Given the description of an element on the screen output the (x, y) to click on. 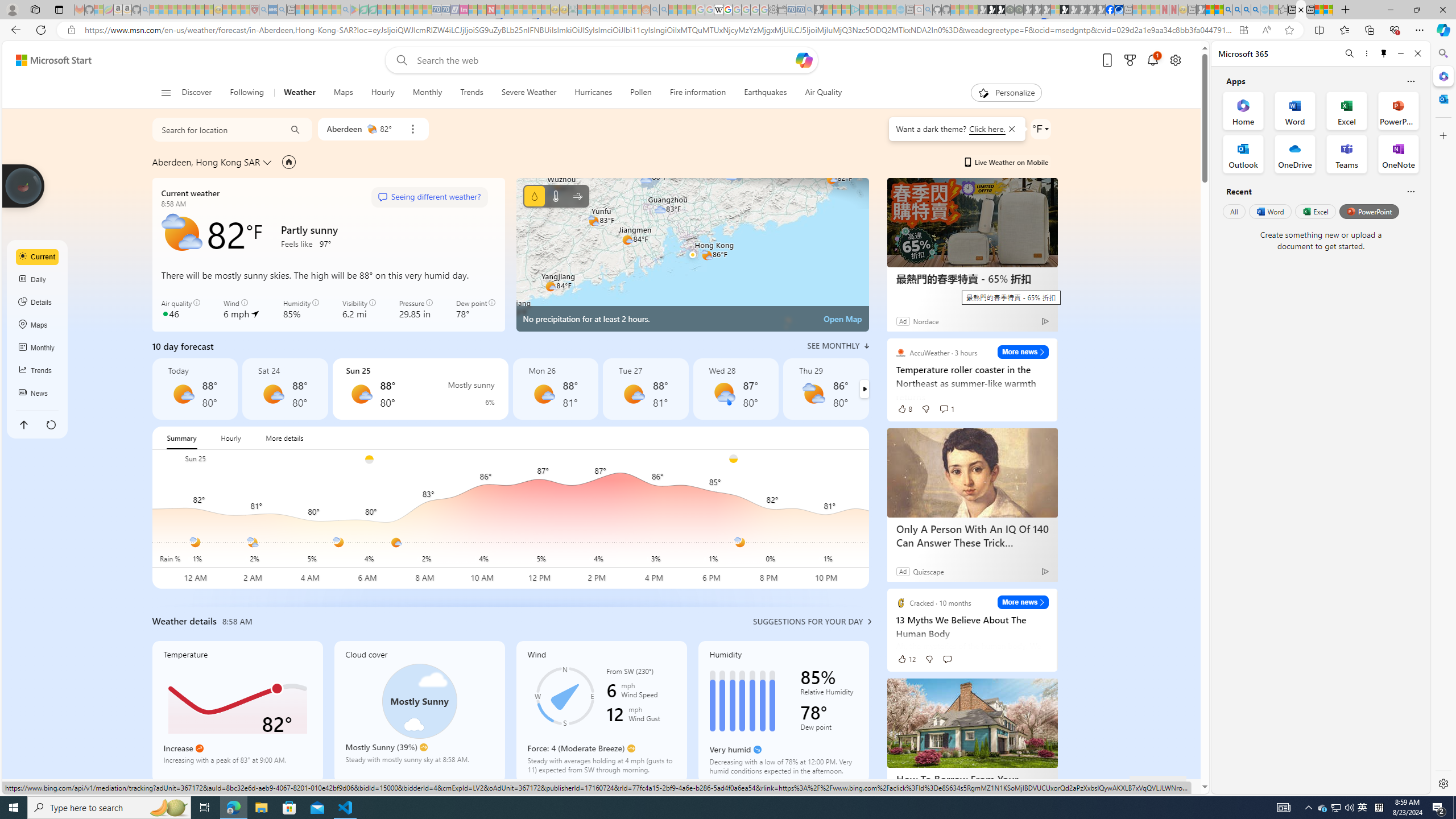
Monthly (37, 347)
Aberdeen, Hong Kong SAR (205, 161)
Switch right (864, 389)
github - Search - Sleeping (927, 9)
Class: BubbleMessageCloseIcon-DS-EntryPoint1-1 (1010, 128)
Your Privacy Choices (743, 785)
